Given the description of an element on the screen output the (x, y) to click on. 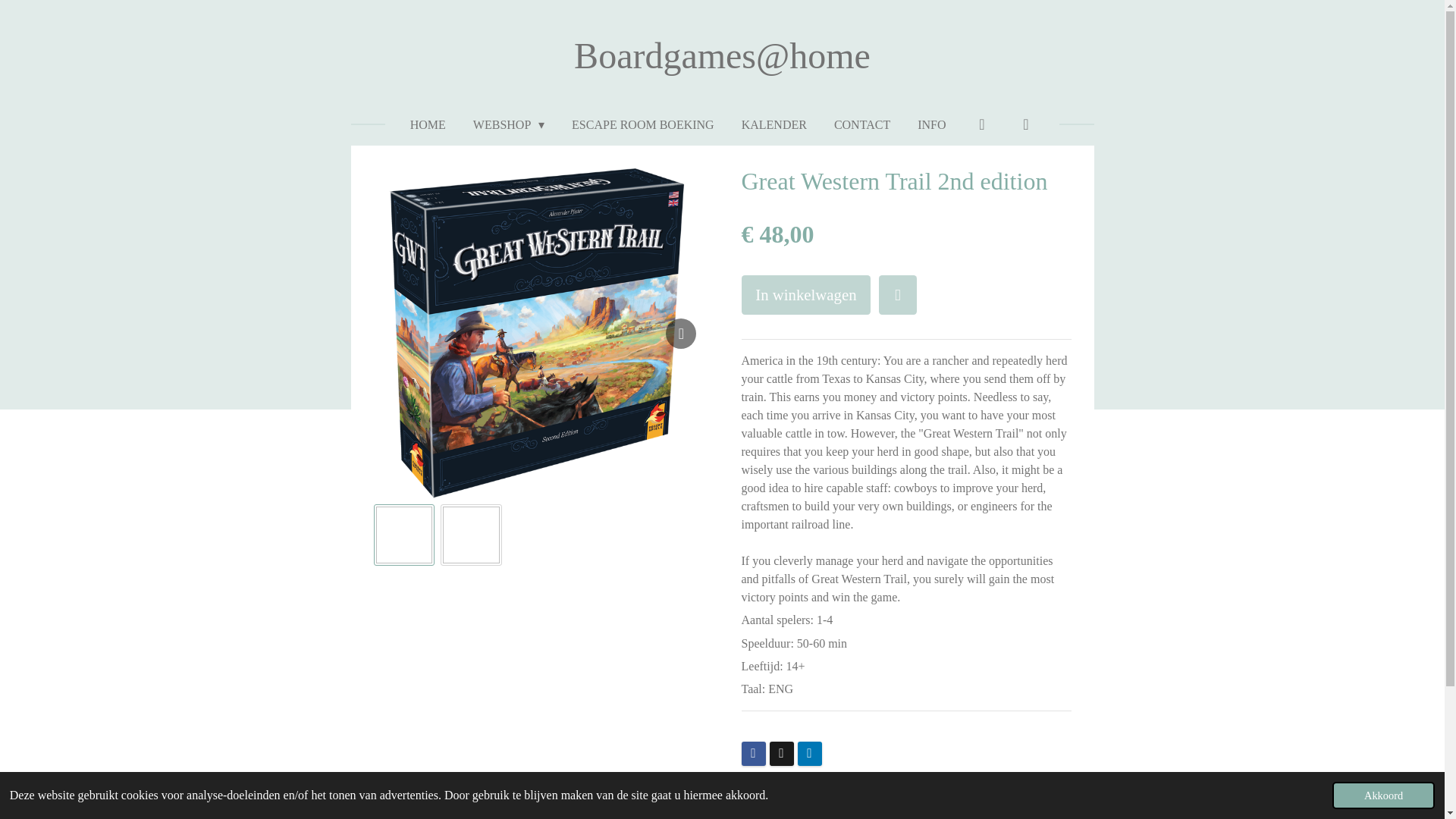
Toevoegen aan verlanglijst (897, 294)
CONTACT (861, 125)
ESCAPE ROOM BOEKING (642, 125)
Toevoegen aan verlanglijst (898, 294)
WEBSHOP (508, 125)
INFO (931, 125)
Zoeken (981, 125)
KALENDER (774, 125)
HOME (427, 125)
In winkelwagen (805, 294)
Bekijk winkelwagen (1025, 125)
In winkelwagen (805, 294)
